Given the description of an element on the screen output the (x, y) to click on. 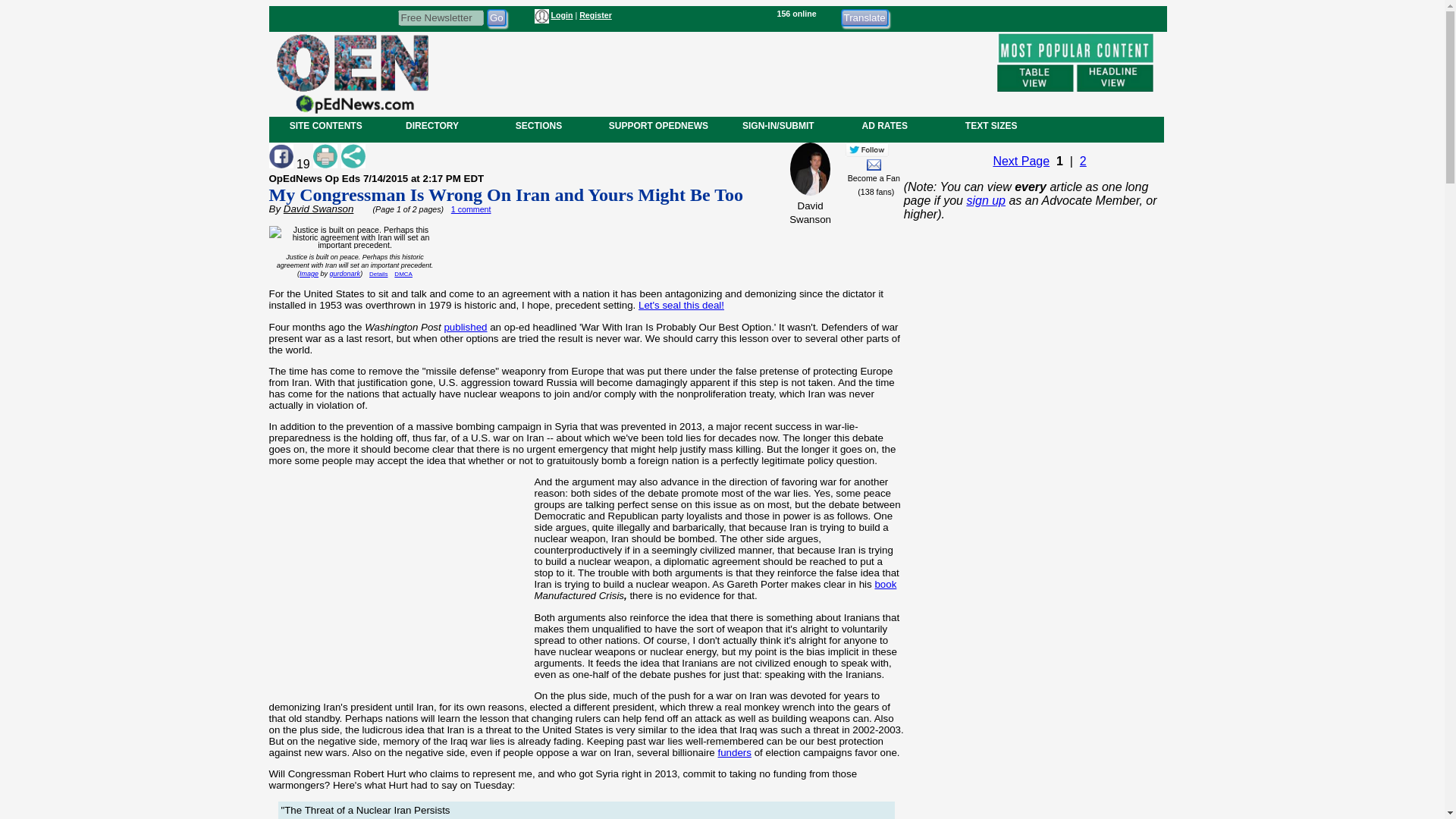
Let's seal this deal! (681, 305)
Image (308, 273)
Message David Swanson (873, 164)
Share on Facebook (279, 156)
funders (734, 752)
Follow Me on Twitter (866, 149)
Printer Friendly Page (325, 156)
TEXT SIZES (990, 125)
DMCA (403, 274)
Register (595, 14)
